Given the description of an element on the screen output the (x, y) to click on. 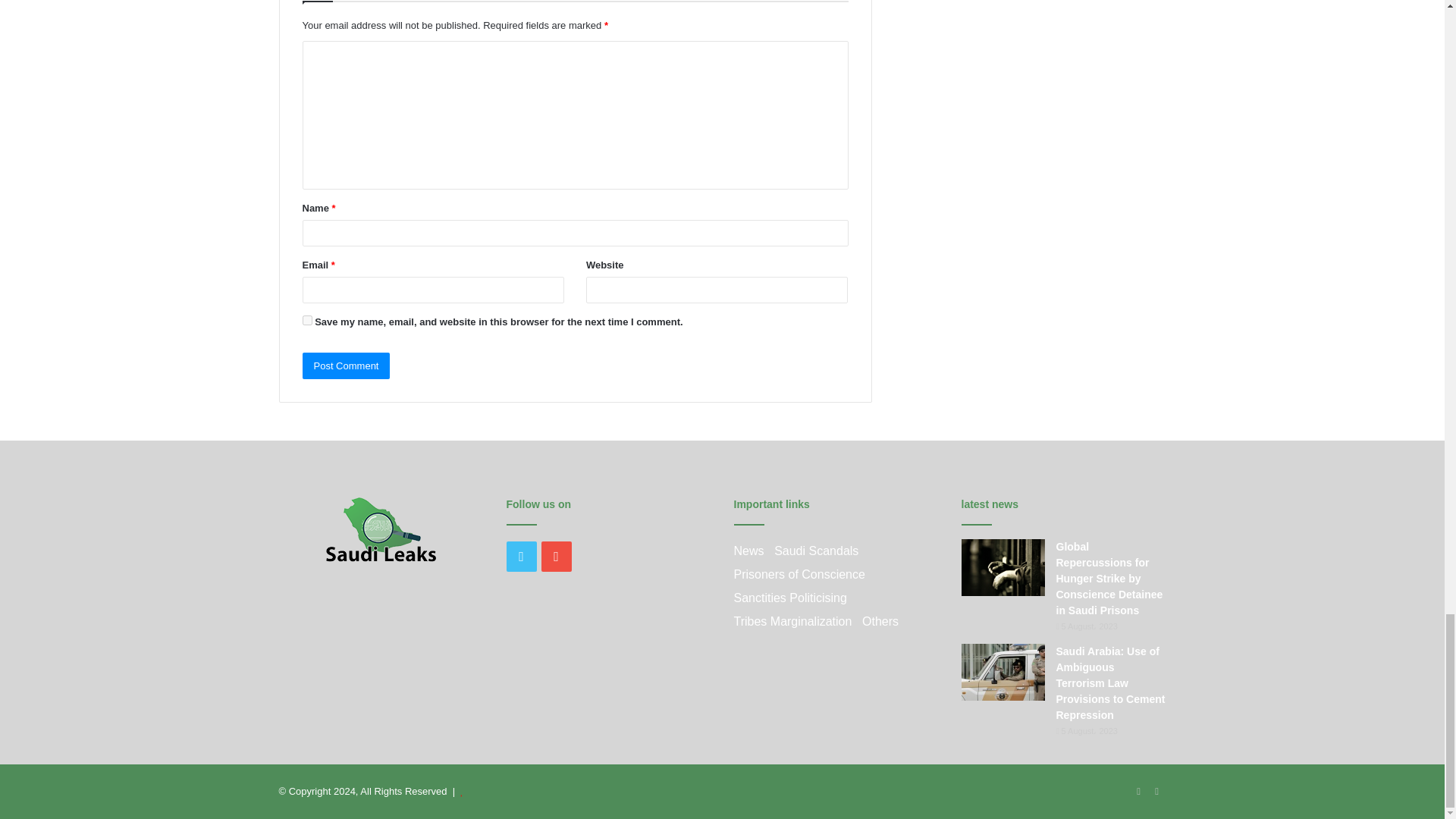
Post Comment (345, 365)
Post Comment (345, 365)
yes (306, 320)
